Given the description of an element on the screen output the (x, y) to click on. 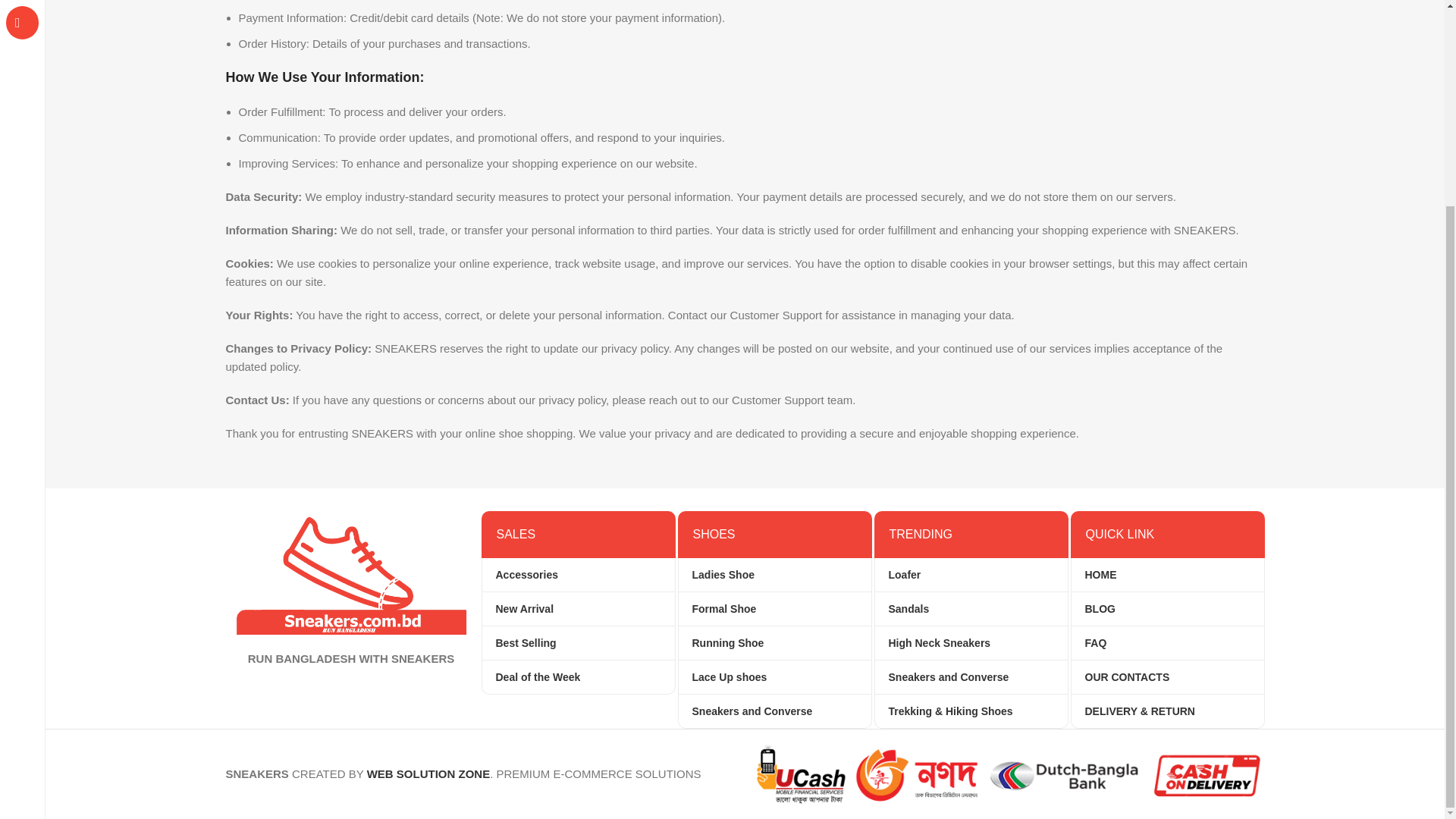
Running Shoe (774, 643)
Lace Up shoes (774, 676)
Accessories (578, 574)
New Arrival (578, 608)
Formal Shoe (774, 608)
Best Selling (578, 643)
Deal of the Week (578, 676)
Ladies Shoe (774, 574)
